Given the description of an element on the screen output the (x, y) to click on. 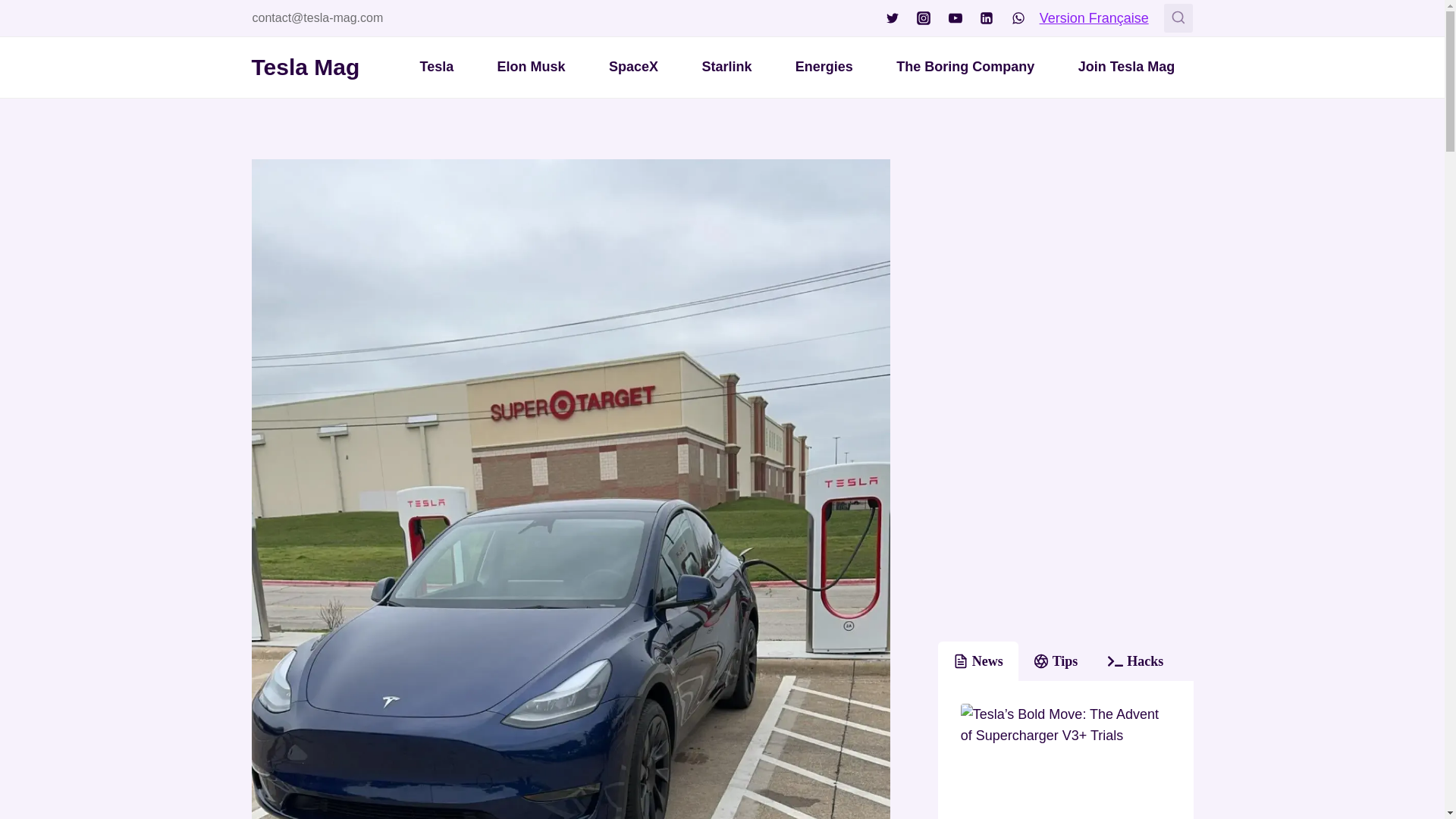
Starlink (726, 66)
News (977, 660)
Hacks (1135, 660)
Tips (1055, 660)
SpaceX (634, 66)
Tesla Mag (305, 67)
The Boring Company (964, 66)
Join Tesla Mag (1126, 66)
Energies (823, 66)
Tesla (436, 66)
